Given the description of an element on the screen output the (x, y) to click on. 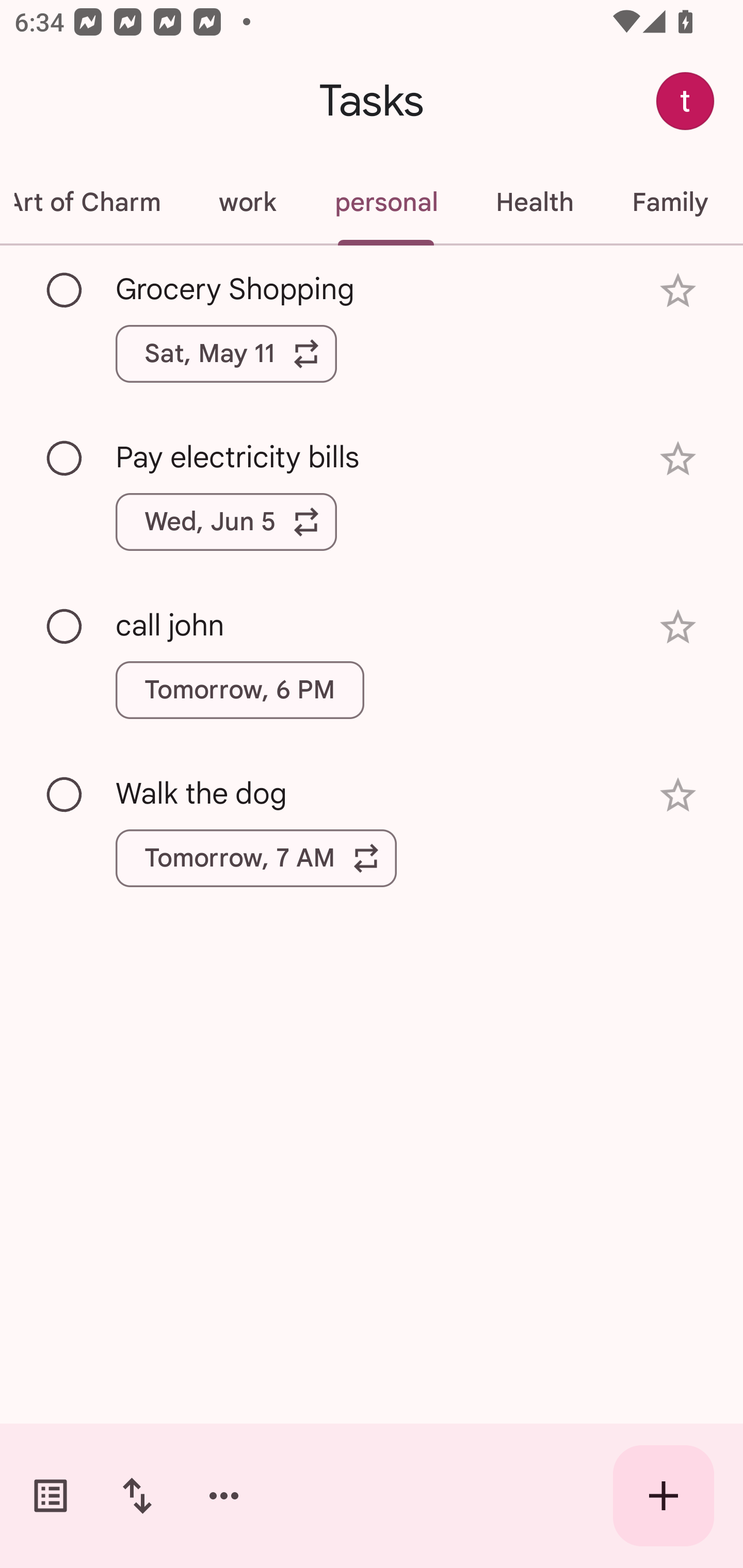
The Art of Charm (94, 202)
work (247, 202)
Health (534, 202)
Family (669, 202)
Add star (677, 290)
Mark as complete (64, 290)
Sat, May 11 (225, 353)
Add star (677, 458)
Mark as complete (64, 459)
Wed, Jun 5 (225, 522)
Add star (677, 627)
Mark as complete (64, 627)
Tomorrow, 6 PM (239, 689)
Add star (677, 795)
Mark as complete (64, 794)
Tomorrow, 7 AM (255, 858)
Switch task lists (50, 1495)
Create new task (663, 1495)
Change sort order (136, 1495)
More options (223, 1495)
